Given the description of an element on the screen output the (x, y) to click on. 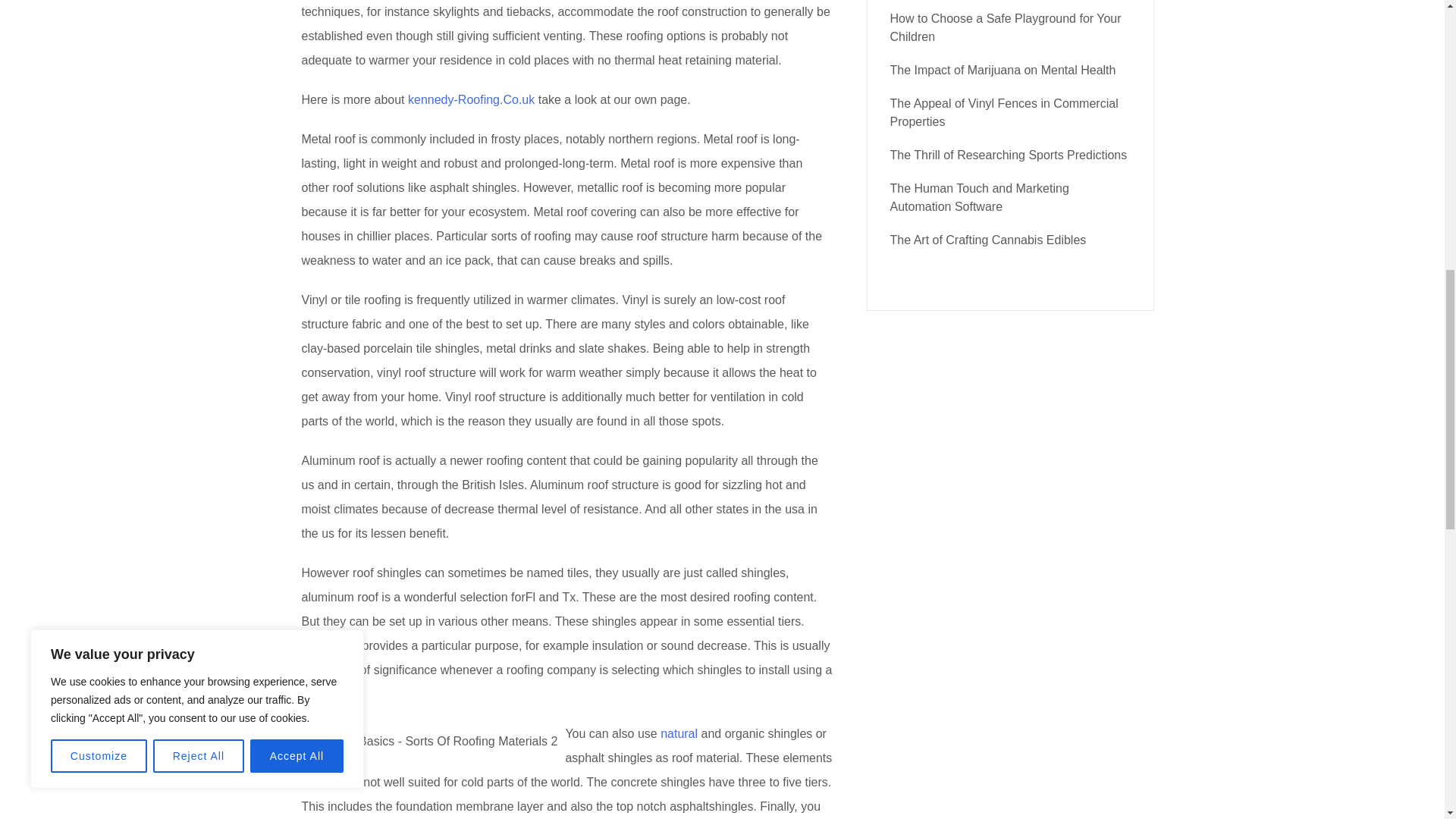
natural (679, 733)
kennedy-Roofing.Co.uk (470, 99)
